Given the description of an element on the screen output the (x, y) to click on. 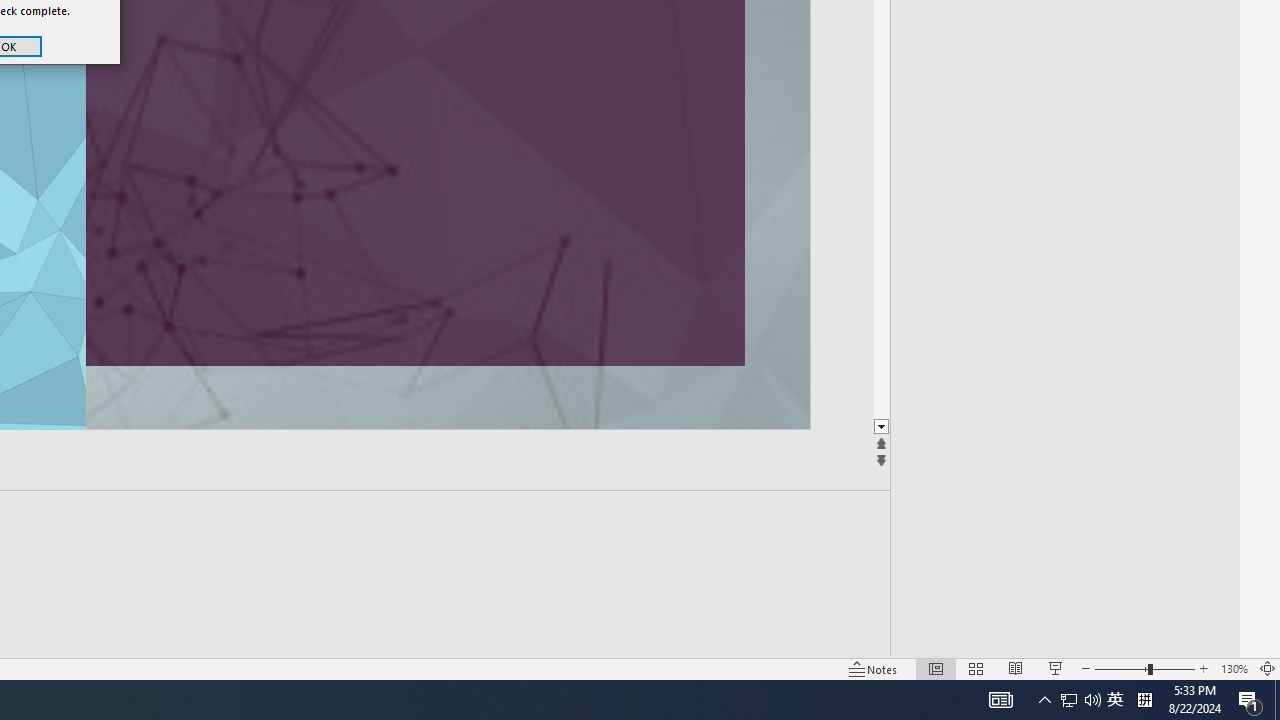
Action Center, 1 new notification (1250, 699)
